Given the description of an element on the screen output the (x, y) to click on. 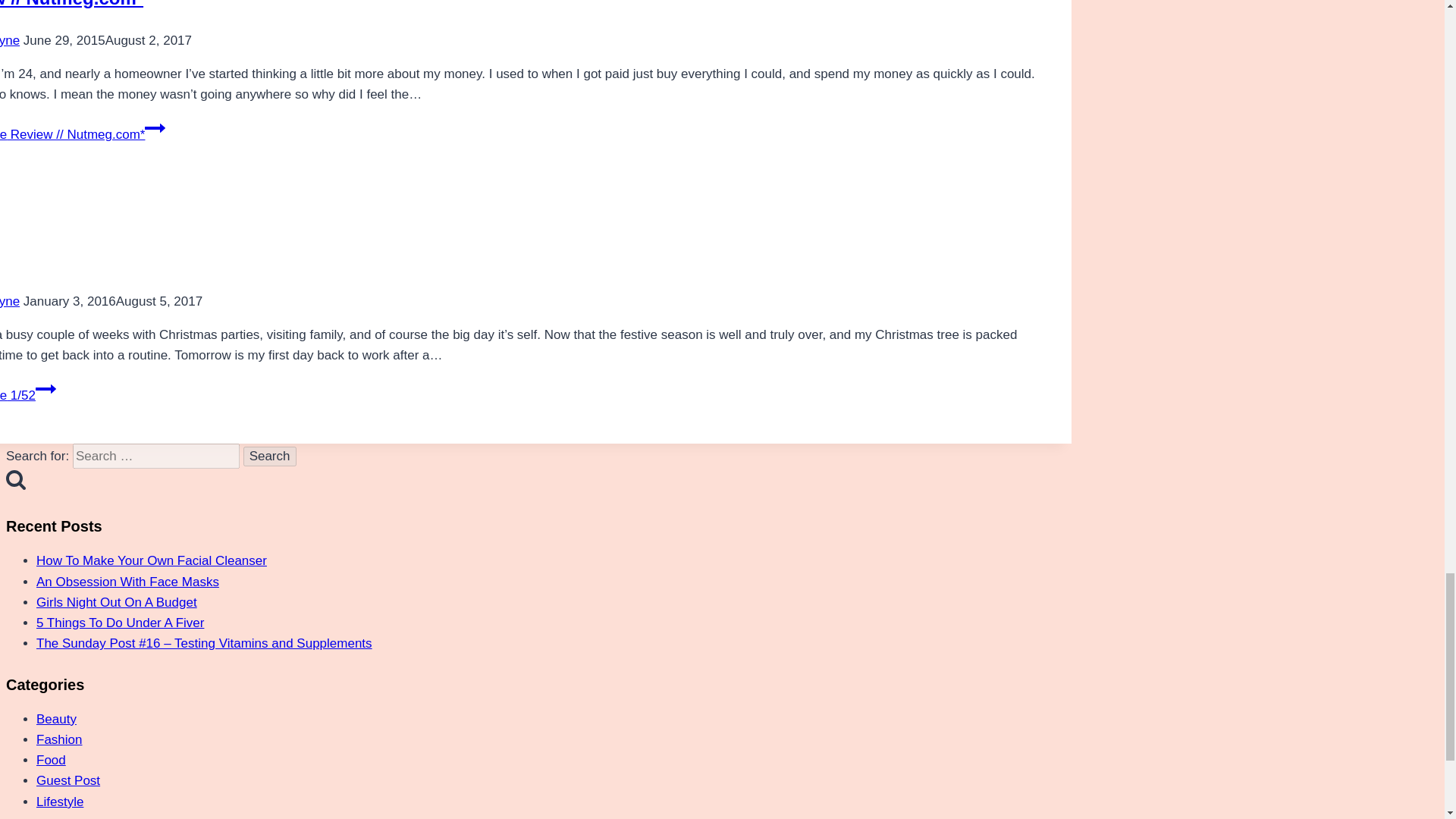
Search (270, 456)
Lisa Jayne (10, 301)
Search (270, 456)
Lisa Jayne (10, 40)
Search (270, 456)
An Obsession With Face Masks (127, 581)
Girls Night Out On A Budget (116, 602)
How To Make Your Own Facial Cleanser (151, 560)
